Given the description of an element on the screen output the (x, y) to click on. 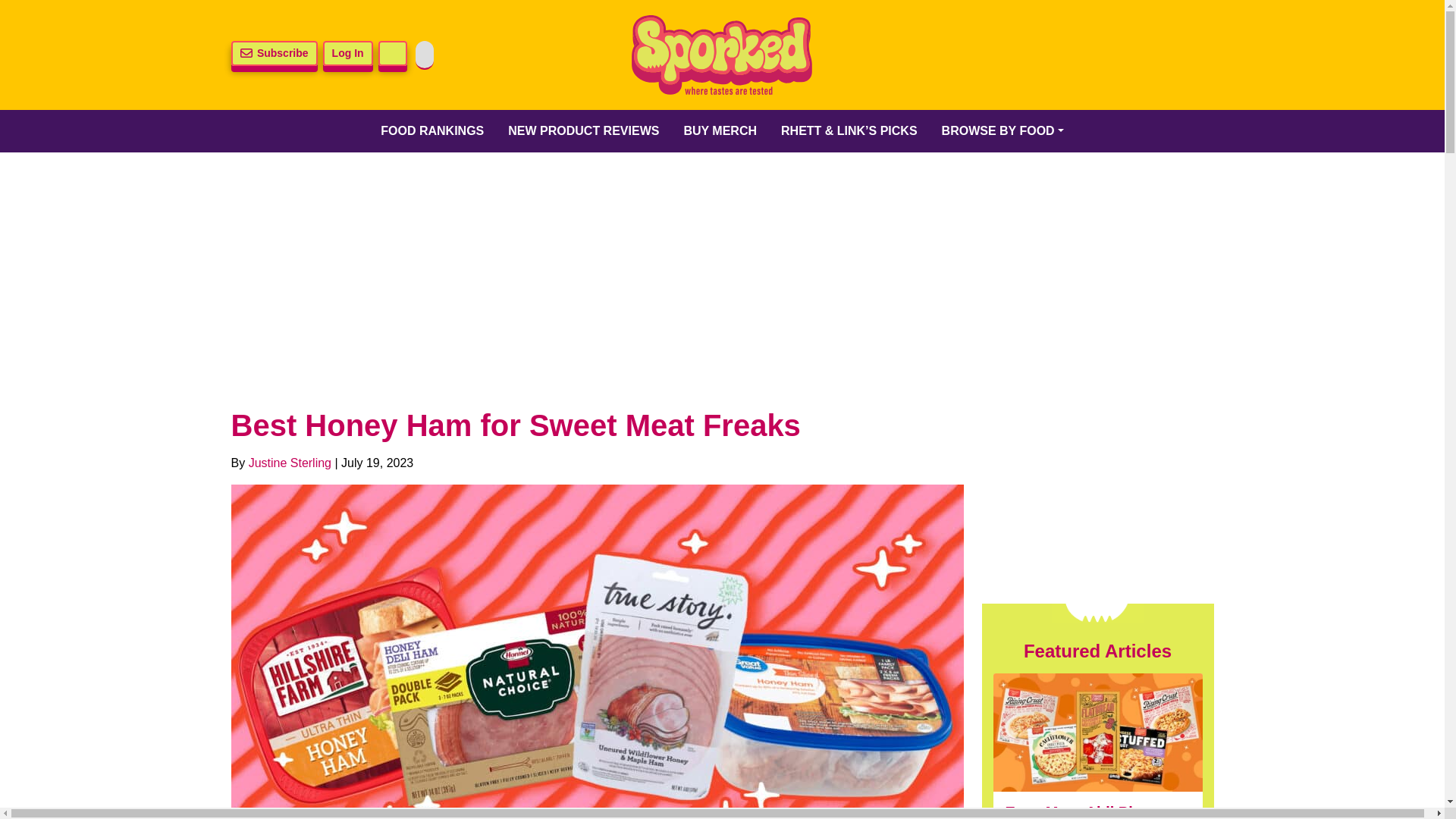
Posts by Justine Sterling (289, 462)
Flipboard, opens in new tab (1192, 54)
Subscribe (273, 53)
Tiktok, opens in new tab (1114, 54)
FOOD RANKINGS (432, 130)
BROWSE BY FOOD (1002, 130)
Log In (347, 53)
NEW PRODUCT REVIEWS (583, 130)
Search (392, 53)
Instagram, opens in new tab (1074, 54)
